Given the description of an element on the screen output the (x, y) to click on. 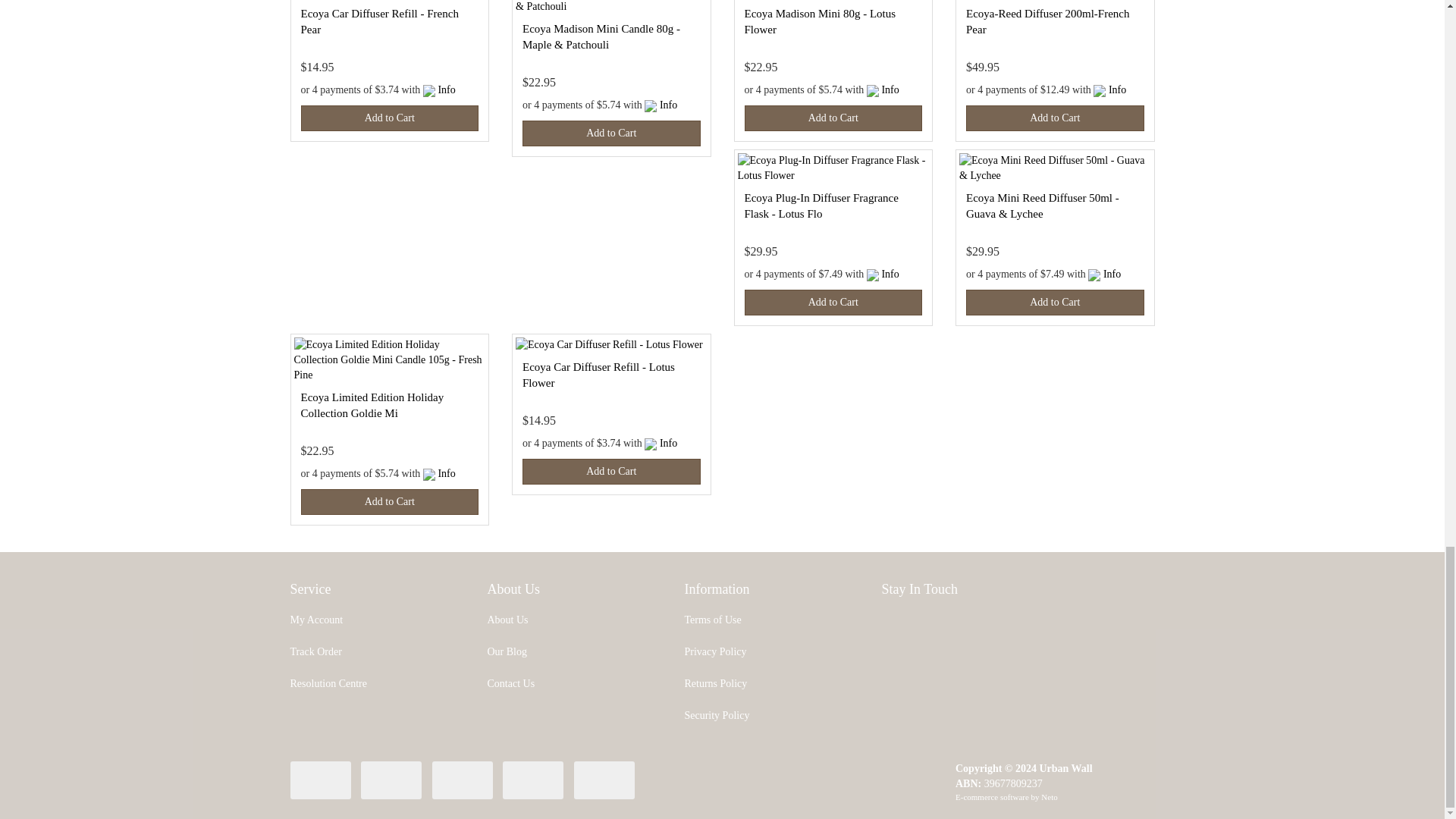
Add to Cart (389, 118)
Add Ecoya Car Diffuser Refill - French Pear to Cart (389, 118)
Add Ecoya-Reed Diffuser 200ml-French Pear to Cart (1055, 118)
Info (446, 89)
Add to Cart (611, 133)
Add Ecoya Car Diffuser Refill - Lotus Flower to Cart (611, 471)
Ecoya Car Diffuser Refill - French Pear (378, 21)
Add Ecoya Madison Mini 80g - Lotus Flower to Cart (833, 118)
Info (668, 104)
